Given the description of an element on the screen output the (x, y) to click on. 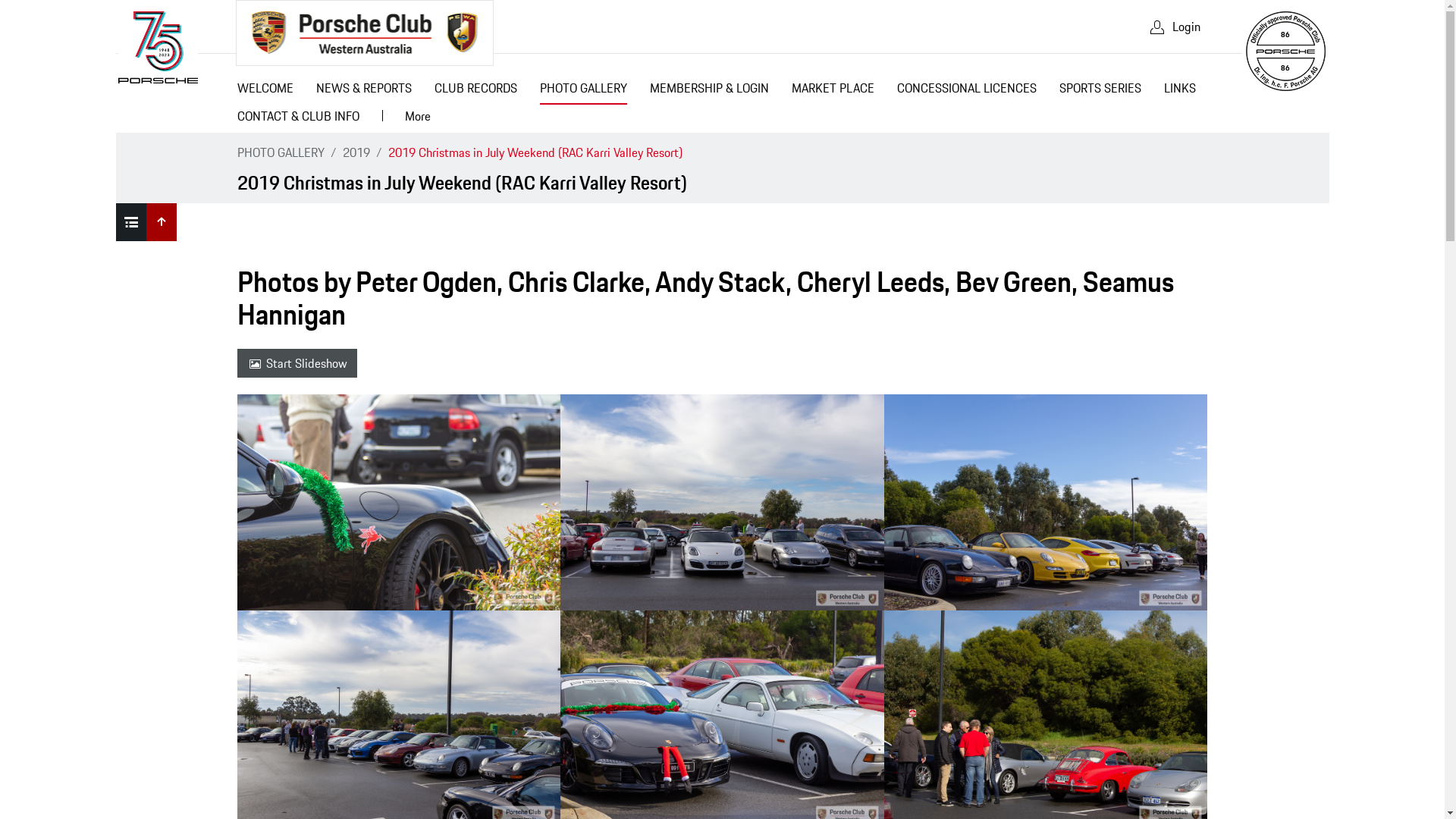
PHOTO GALLERY Element type: text (582, 90)
CONCESSIONAL LICENCES Element type: text (966, 90)
NEWS & REPORTS Element type: text (363, 90)
SPORTS SERIES Element type: text (1100, 90)
MEMBERSHIP & LOGIN Element type: text (709, 90)
Porsche Club of Western Australia Element type: hover (363, 32)
CONTACT & CLUB INFO Element type: text (297, 118)
 Start Slideshow Element type: text (296, 362)
2019 Element type: text (356, 152)
CLUB RECORDS Element type: text (475, 90)
WELCOME Element type: text (264, 90)
Officially approved Porsche Club 86 Element type: hover (1284, 51)
LINKS Element type: text (1179, 90)
MARKET PLACE Element type: text (831, 90)
PHOTO GALLERY Element type: text (279, 152)
Login Element type: text (1174, 26)
75 Years of Porsche Element type: hover (157, 47)
More Element type: text (416, 118)
